Given the description of an element on the screen output the (x, y) to click on. 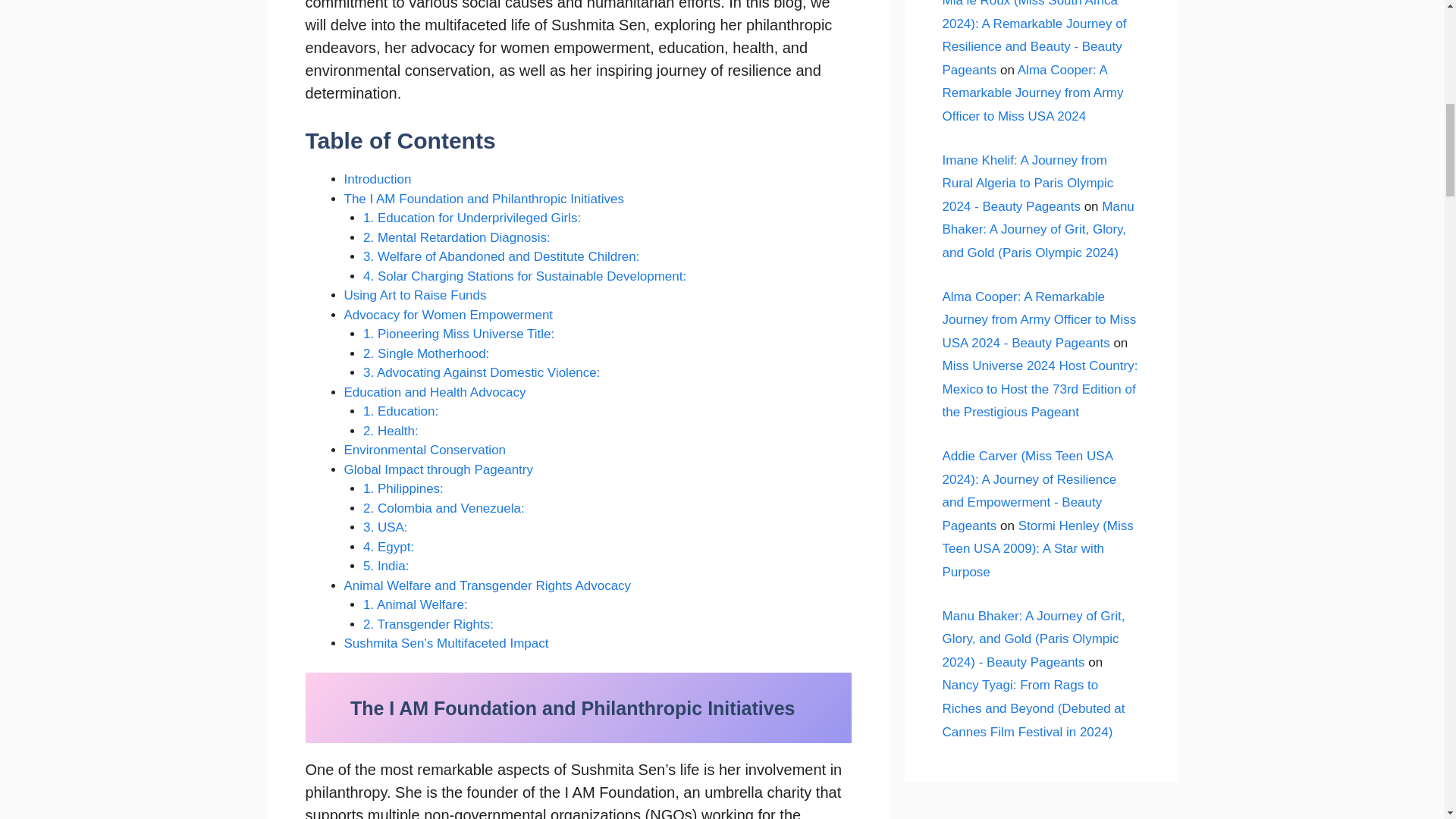
1. Pioneering Miss Universe Title: (458, 333)
3. USA: (384, 527)
Environmental Conservation (424, 450)
Animal Welfare and Transgender Rights Advocacy (487, 585)
1. Philippines: (403, 488)
3. Advocating Against Domestic Violence: (480, 372)
3. Welfare of Abandoned and Destitute Children: (500, 256)
5. India: (385, 565)
Global Impact through Pageantry (437, 469)
Introduction (377, 178)
